Given the description of an element on the screen output the (x, y) to click on. 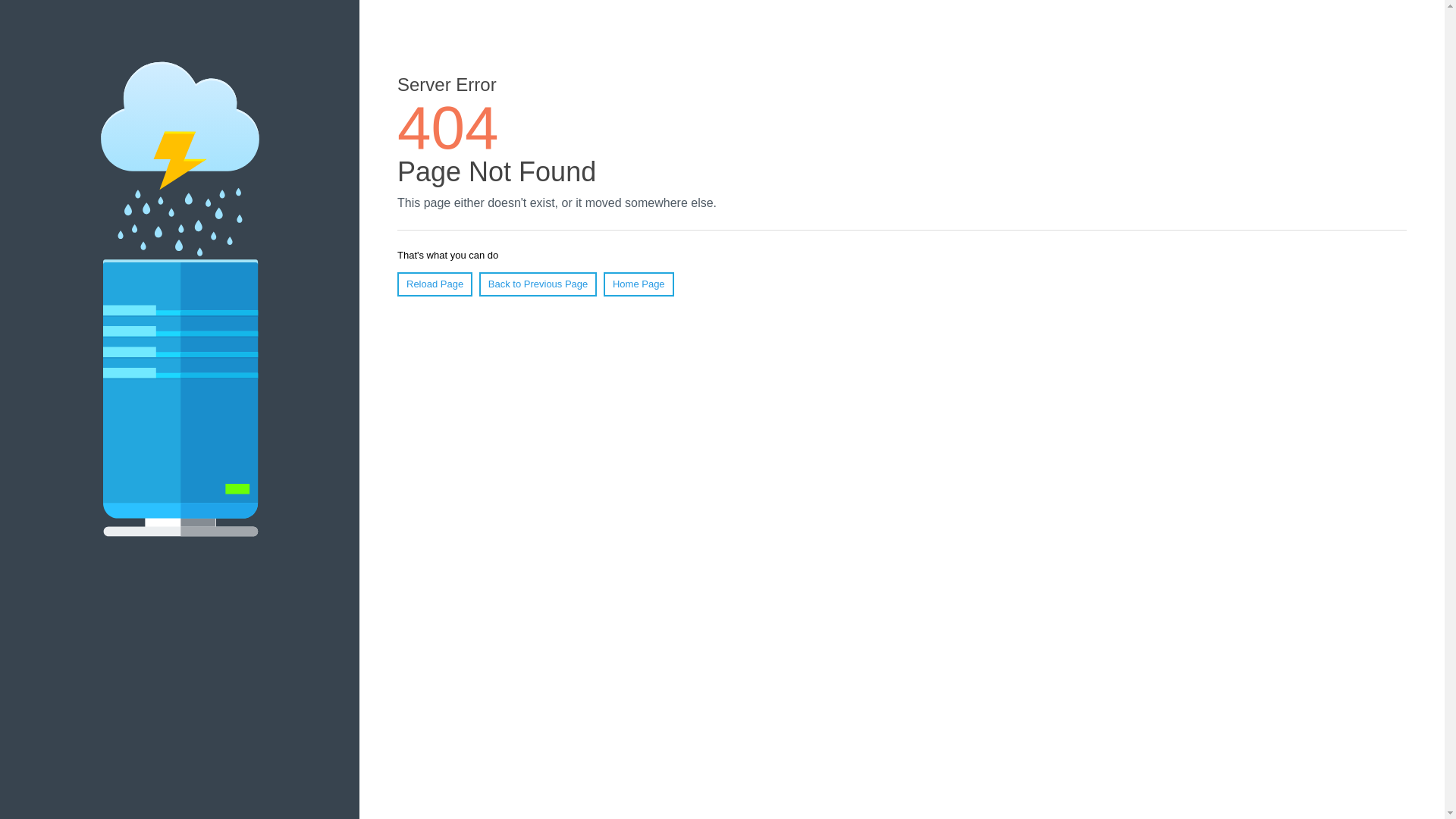
Home Page Element type: text (638, 284)
Back to Previous Page Element type: text (538, 284)
Reload Page Element type: text (434, 284)
